Given the description of an element on the screen output the (x, y) to click on. 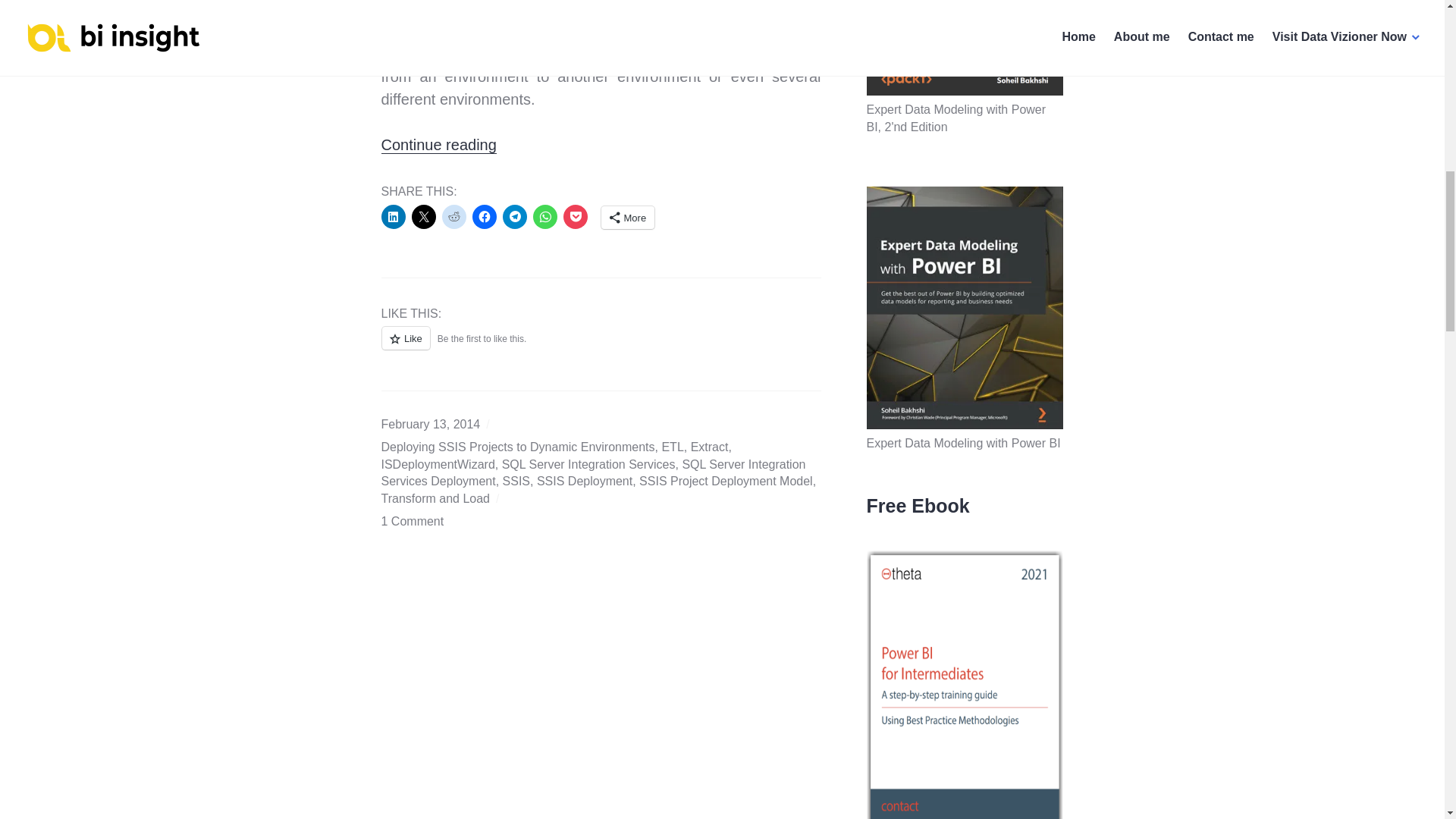
SSIS (515, 481)
Click to share on WhatsApp (544, 216)
Deploying SSIS Projects to Dynamic Environments (516, 446)
February 13, 2014 (430, 423)
ISDeploymentWizard (437, 463)
1 Comment (412, 521)
Transform and Load (434, 498)
ETL (671, 446)
Click to share on Reddit (453, 216)
SQL Server Integration Services (588, 463)
Like or Reblog (600, 346)
SSIS Project Deployment Model (725, 481)
SQL Server Integration Services Deployment (592, 472)
Click to share on LinkedIn (392, 216)
Click to share on Facebook (483, 216)
